Given the description of an element on the screen output the (x, y) to click on. 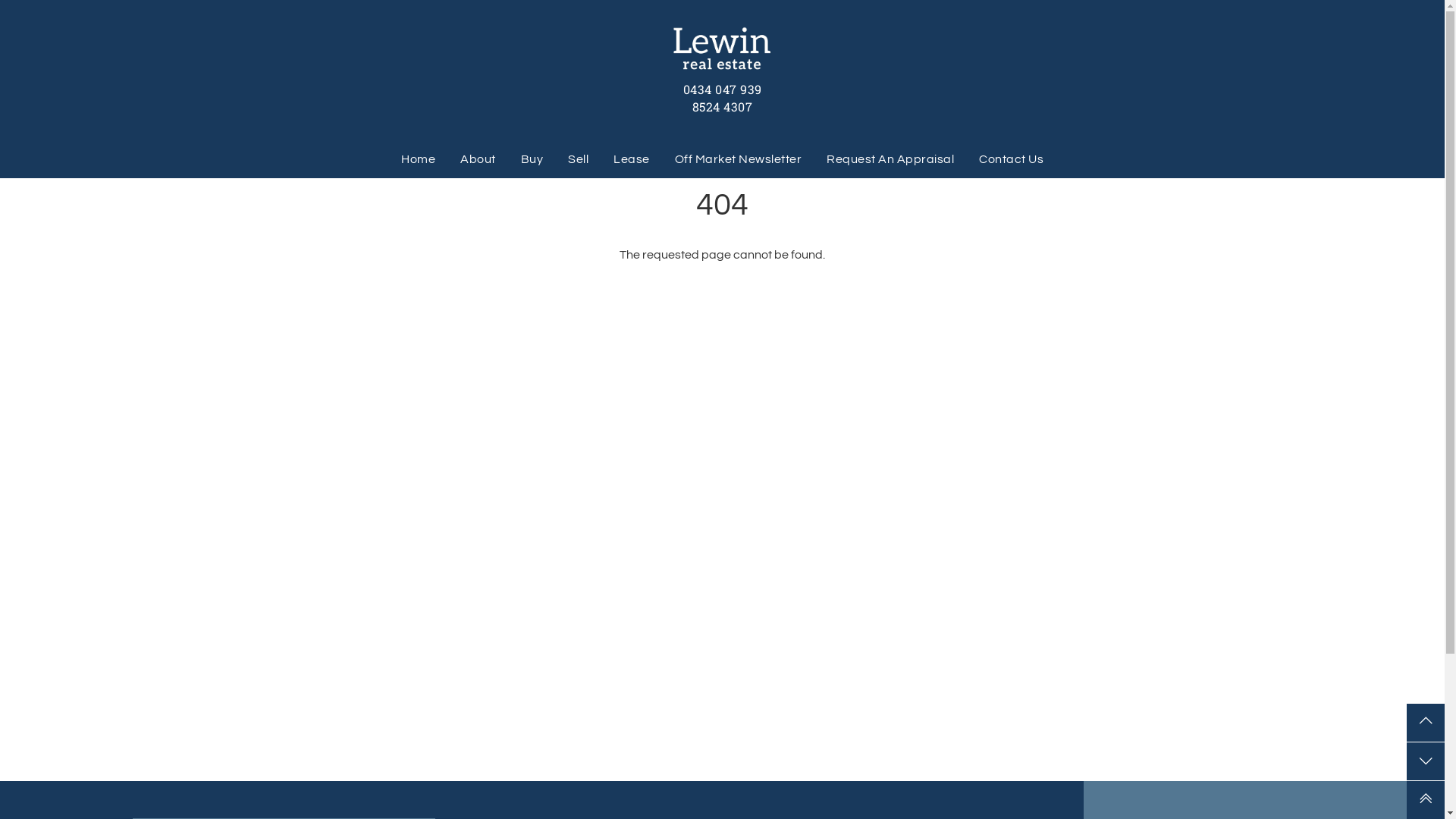
Off Market Newsletter Element type: text (737, 159)
8524 4307 Element type: text (722, 106)
Contact Us Element type: text (1010, 159)
Sell Element type: text (577, 159)
Buy Element type: text (532, 159)
0434 047 939 Element type: text (721, 89)
Lease Element type: text (631, 159)
About Element type: text (477, 159)
Request An Appraisal Element type: text (890, 159)
Home Element type: text (417, 159)
